Given the description of an element on the screen output the (x, y) to click on. 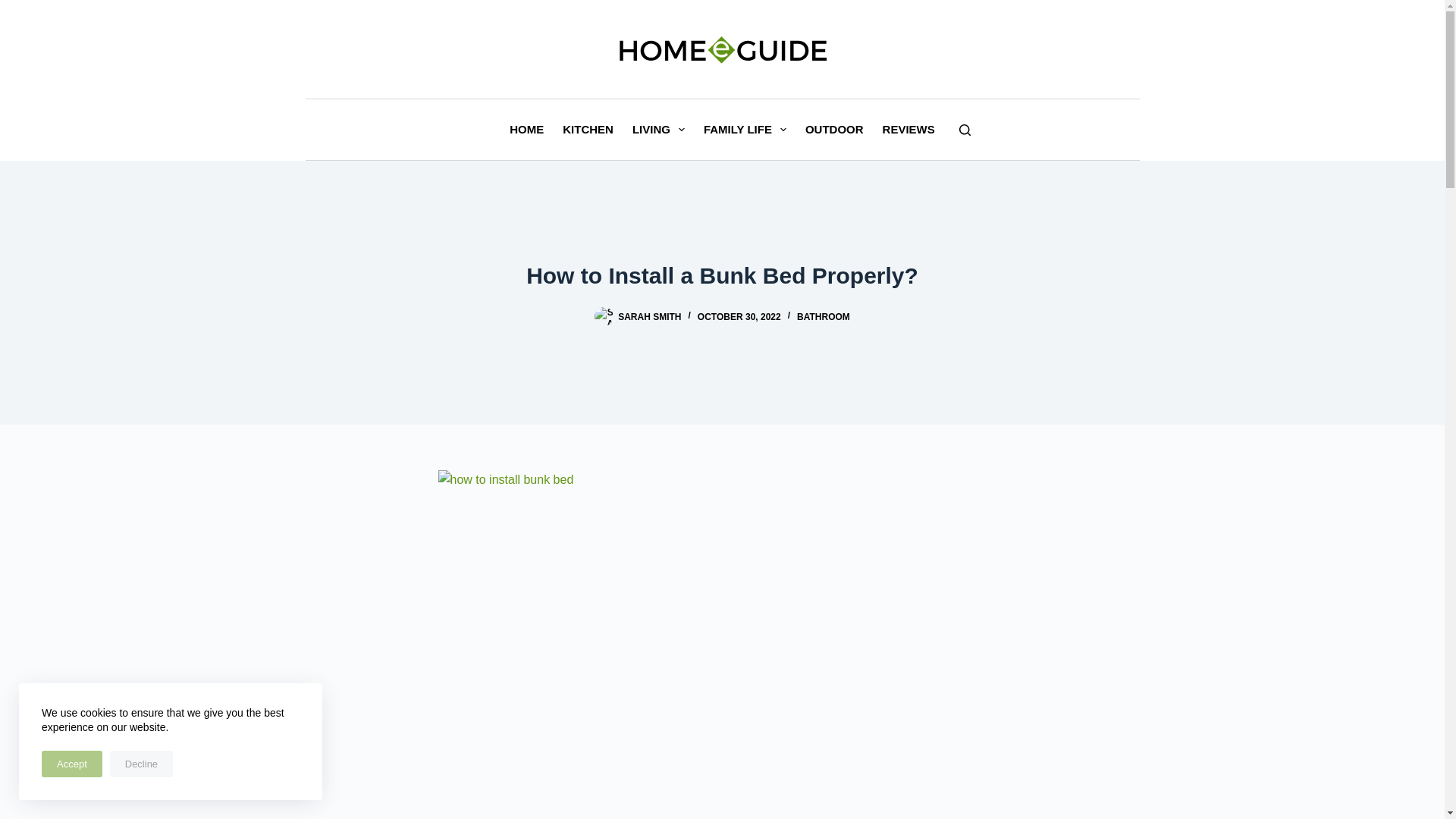
OUTDOOR (833, 129)
LIVING (658, 129)
Skip to content (15, 7)
Decline (141, 764)
FAMILY LIFE (744, 129)
How to Install a Bunk Bed Properly? (722, 275)
Accept (71, 764)
REVIEWS (907, 129)
KITCHEN (588, 129)
Posts by Sarah Smith (649, 317)
